Given the description of an element on the screen output the (x, y) to click on. 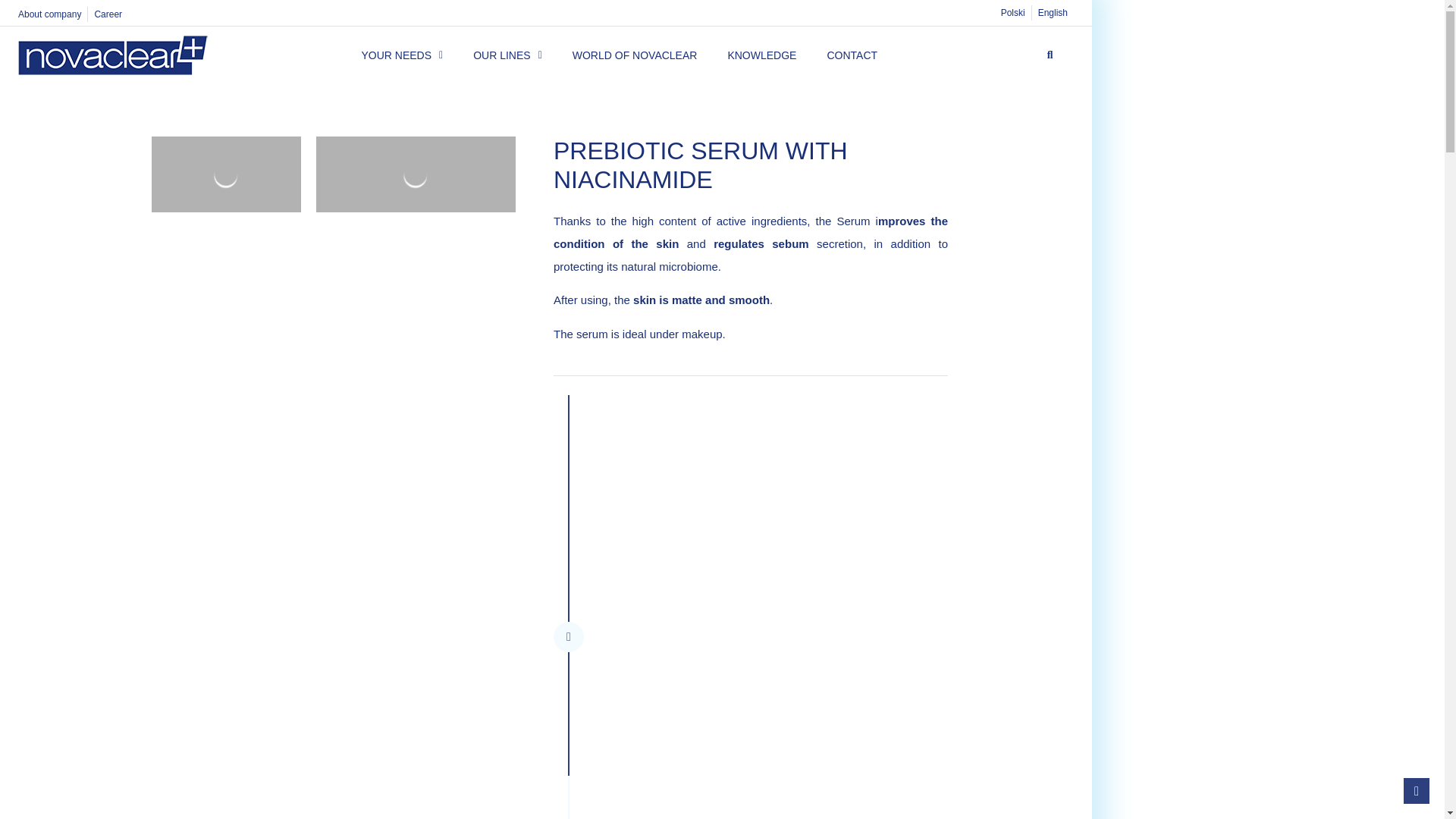
English (1053, 12)
YOUR NEEDS (401, 55)
About company (49, 14)
Career (108, 14)
Polski (1012, 12)
OUR LINES (507, 55)
